Given the description of an element on the screen output the (x, y) to click on. 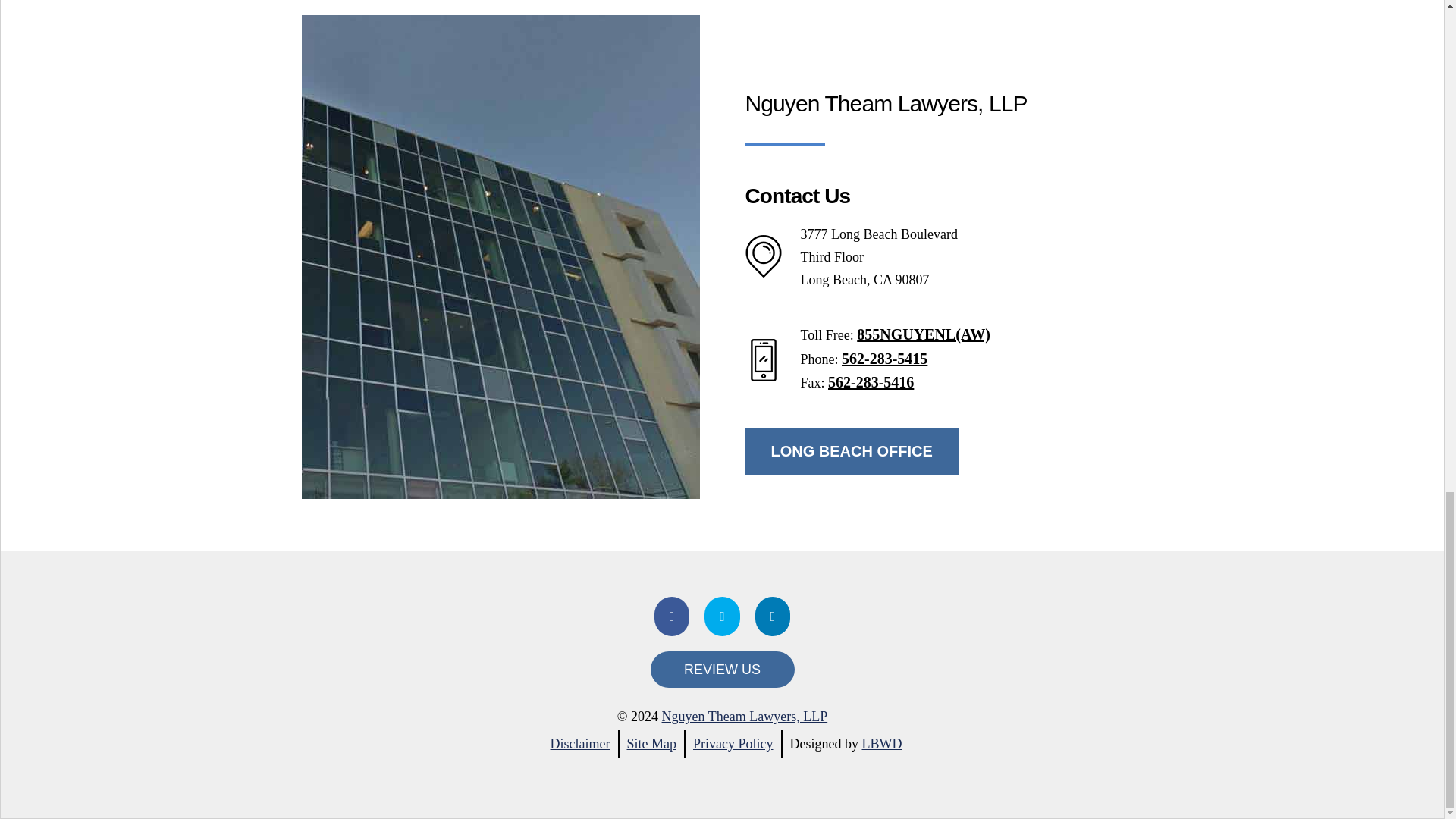
562-283-5415 (884, 358)
Privacy Policy (733, 743)
Disclaimer (580, 743)
LBWD (881, 743)
Site Map (651, 743)
REVIEW US (722, 669)
562-283-5416 (871, 382)
Nguyen Theam Lawyers, LLP (745, 716)
Nguyen Theam Lawyers, LLP (745, 716)
LONG BEACH OFFICE (851, 451)
